Given the description of an element on the screen output the (x, y) to click on. 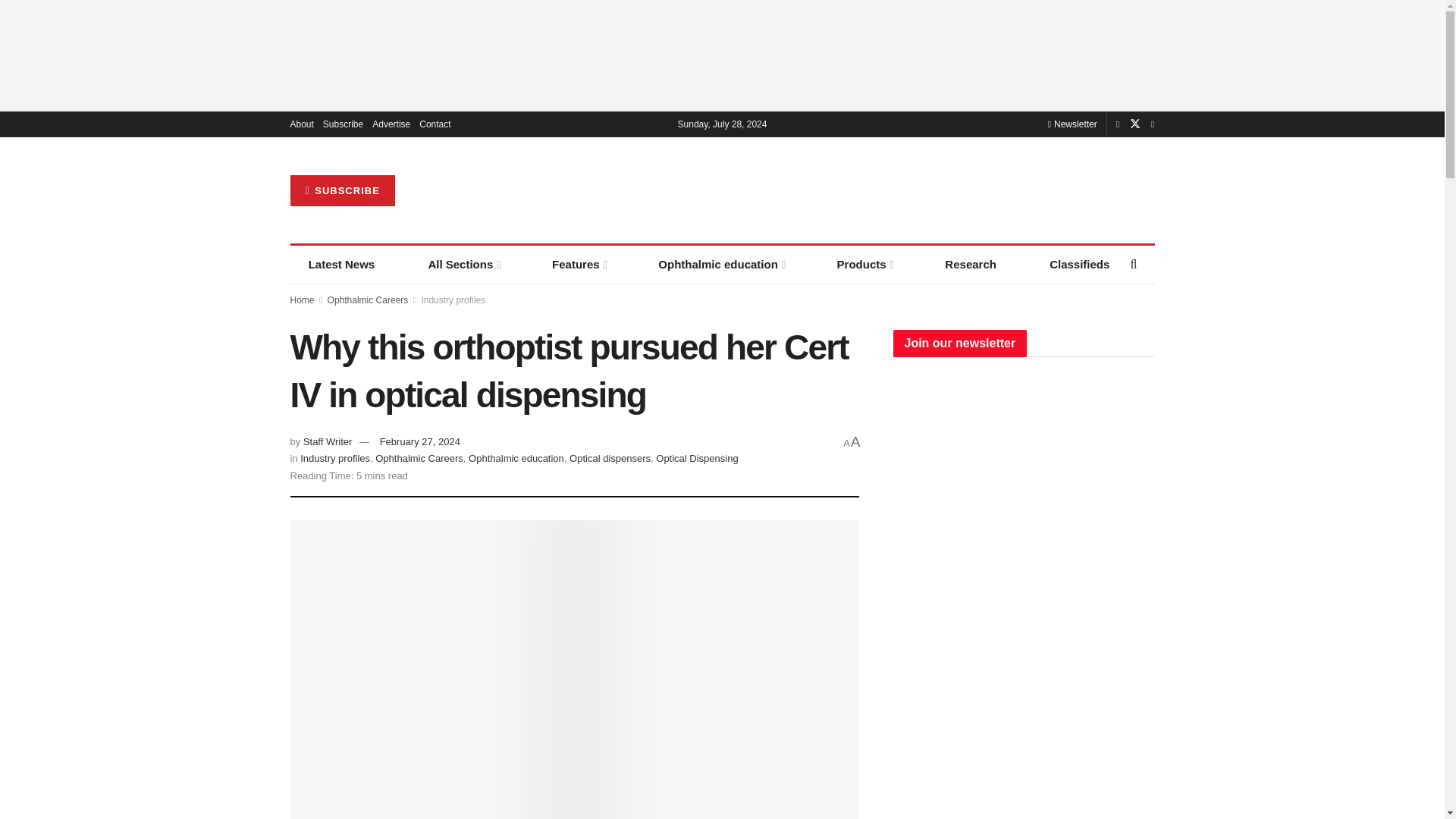
All Sections (462, 264)
Advertise (391, 124)
Subscribe (342, 124)
Latest News (341, 264)
Contact (434, 124)
SUBSCRIBE (341, 190)
Newsletter (1072, 123)
About (301, 124)
